Given the description of an element on the screen output the (x, y) to click on. 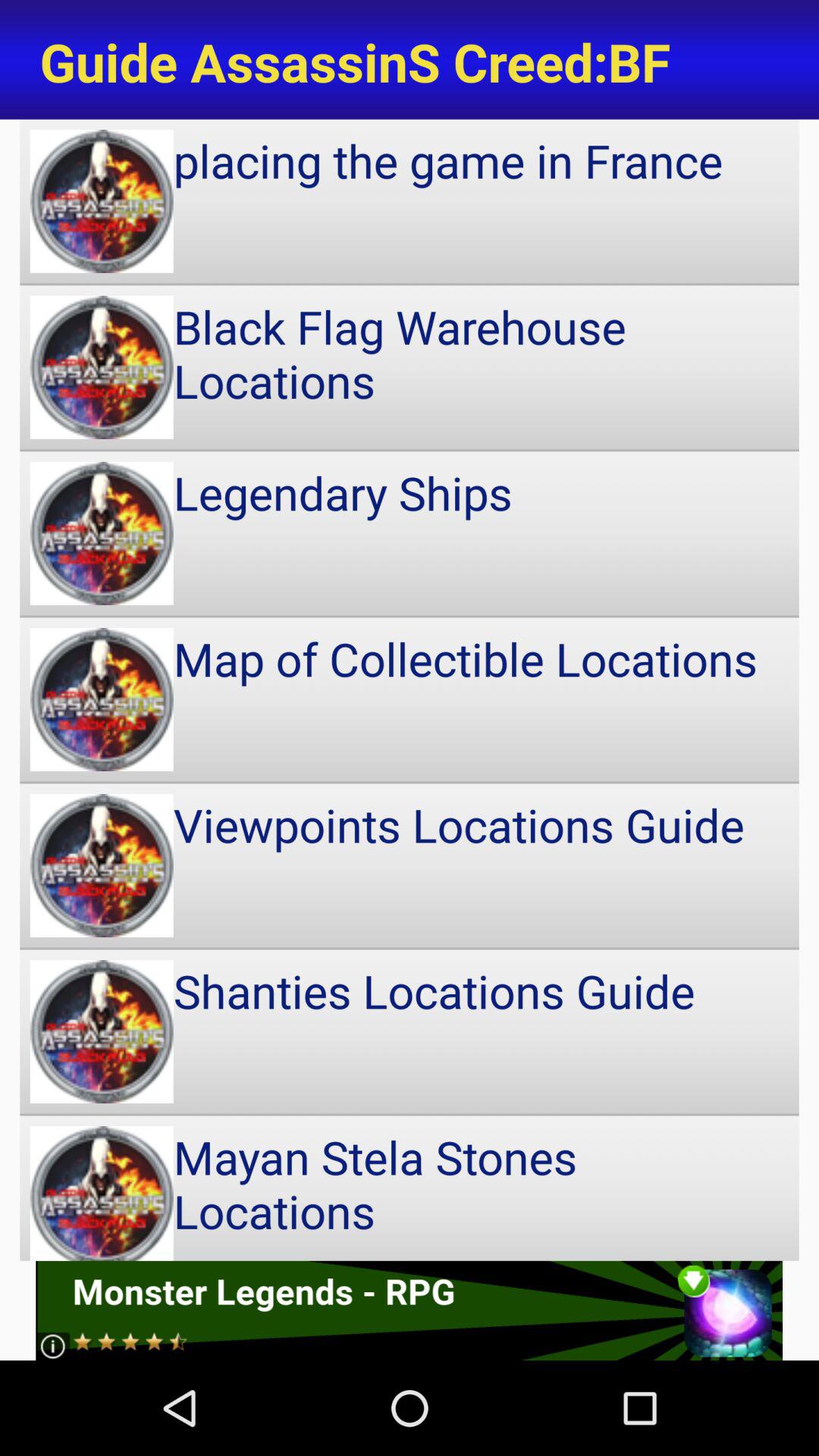
launch icon below viewpoints locations guide (409, 1031)
